Given the description of an element on the screen output the (x, y) to click on. 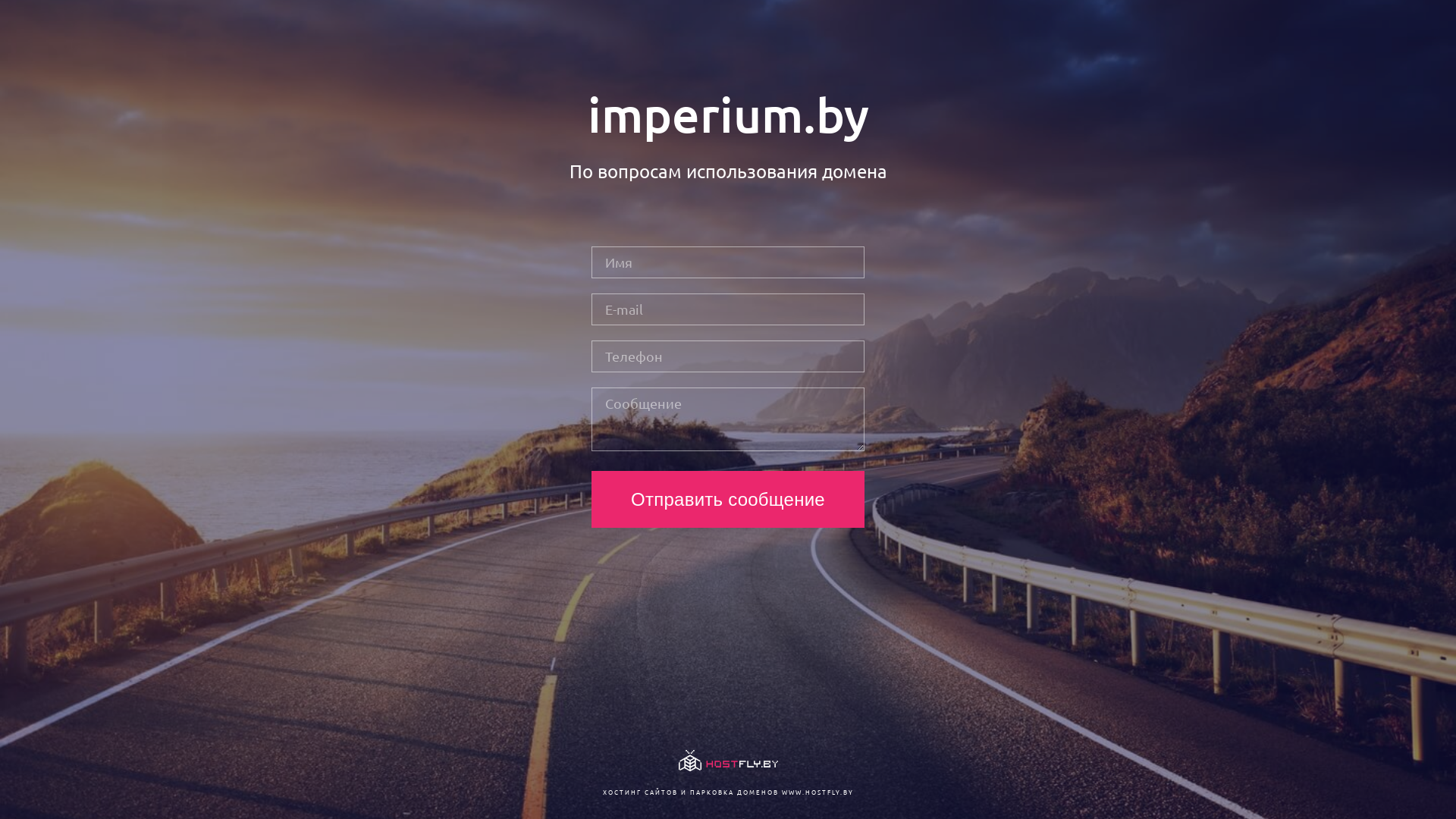
WWW.HOSTFLY.BY Element type: text (817, 791)
